Given the description of an element on the screen output the (x, y) to click on. 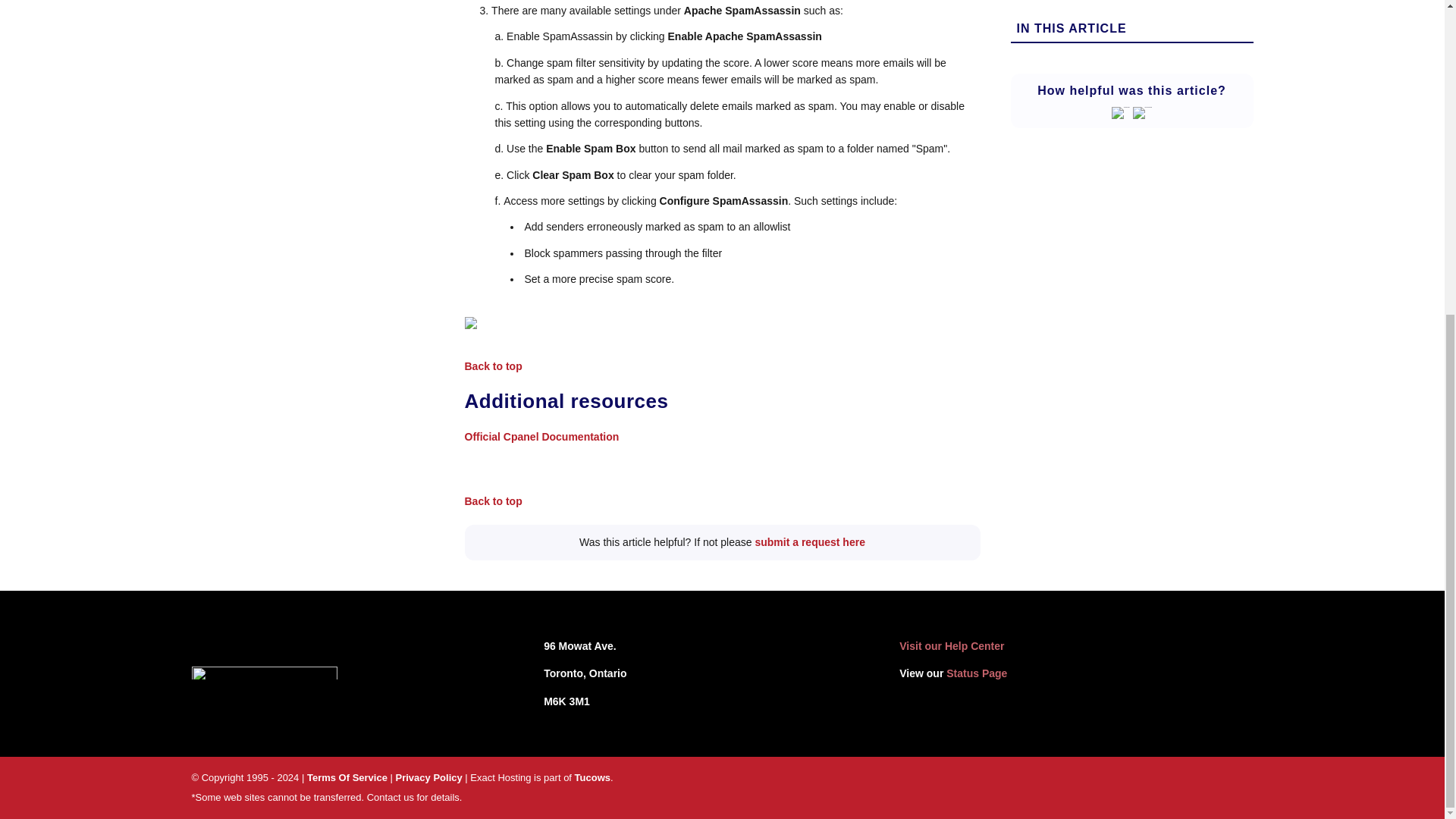
Back to top (492, 366)
submit a request here (809, 541)
Official Cpanel Documentation (541, 436)
Exact Hosting logo (263, 672)
Back to top (492, 500)
